Given the description of an element on the screen output the (x, y) to click on. 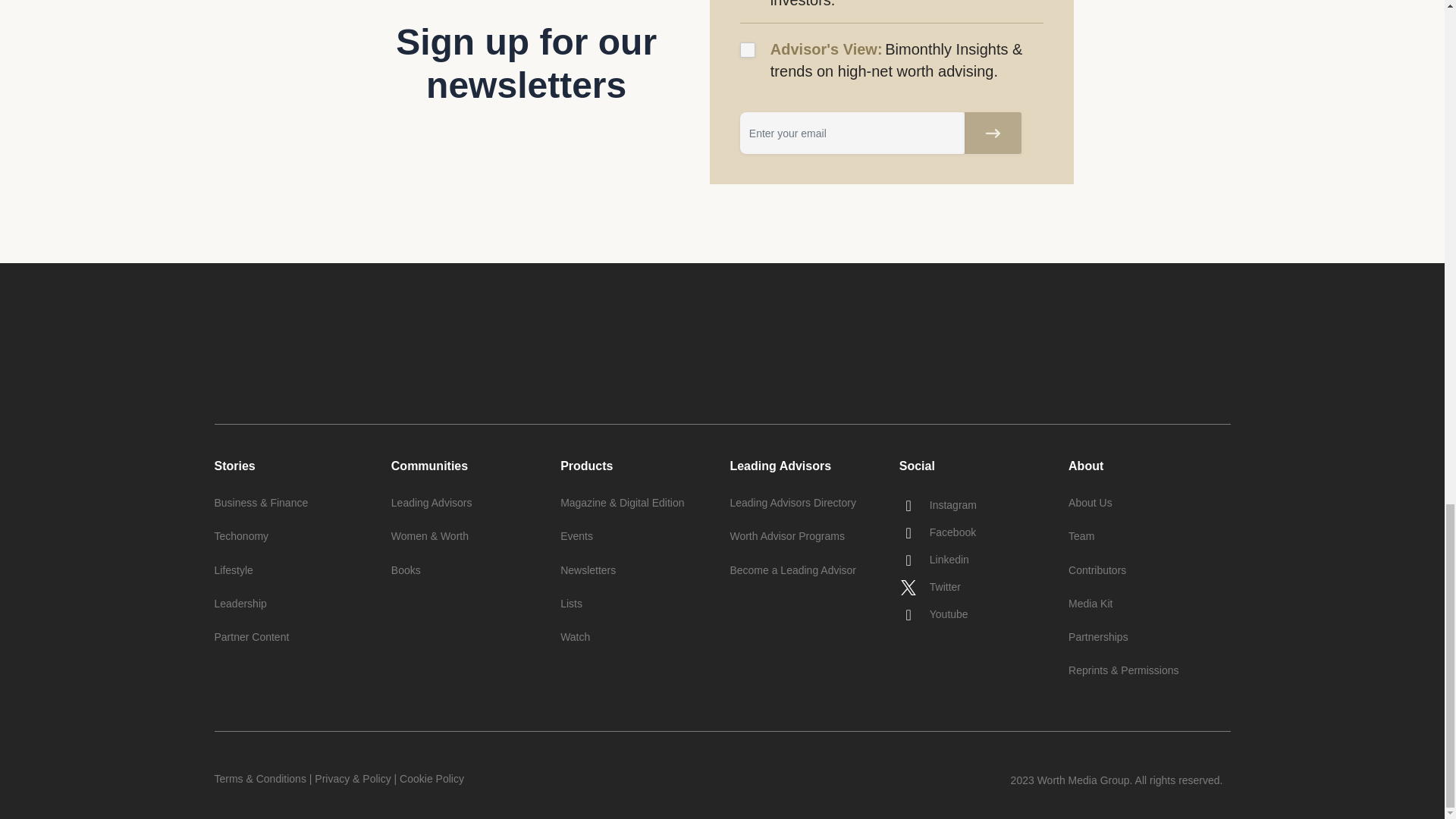
yes (747, 49)
